Given the description of an element on the screen output the (x, y) to click on. 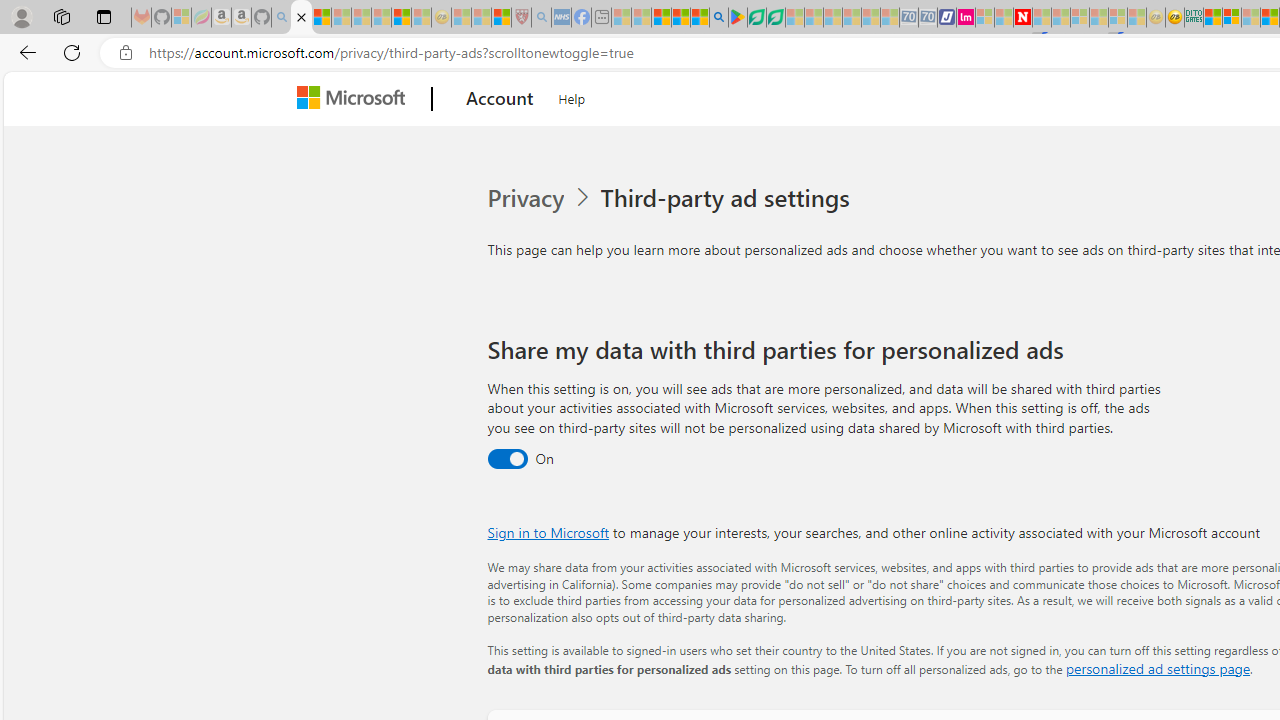
Help (572, 96)
DITOGAMES AG Imprint (1194, 17)
Sign in to Microsoft (548, 532)
Bluey: Let's Play! - Apps on Google Play (737, 17)
Jobs - lastminute.com Investor Portal (966, 17)
Terms of Use Agreement (756, 17)
